Given the description of an element on the screen output the (x, y) to click on. 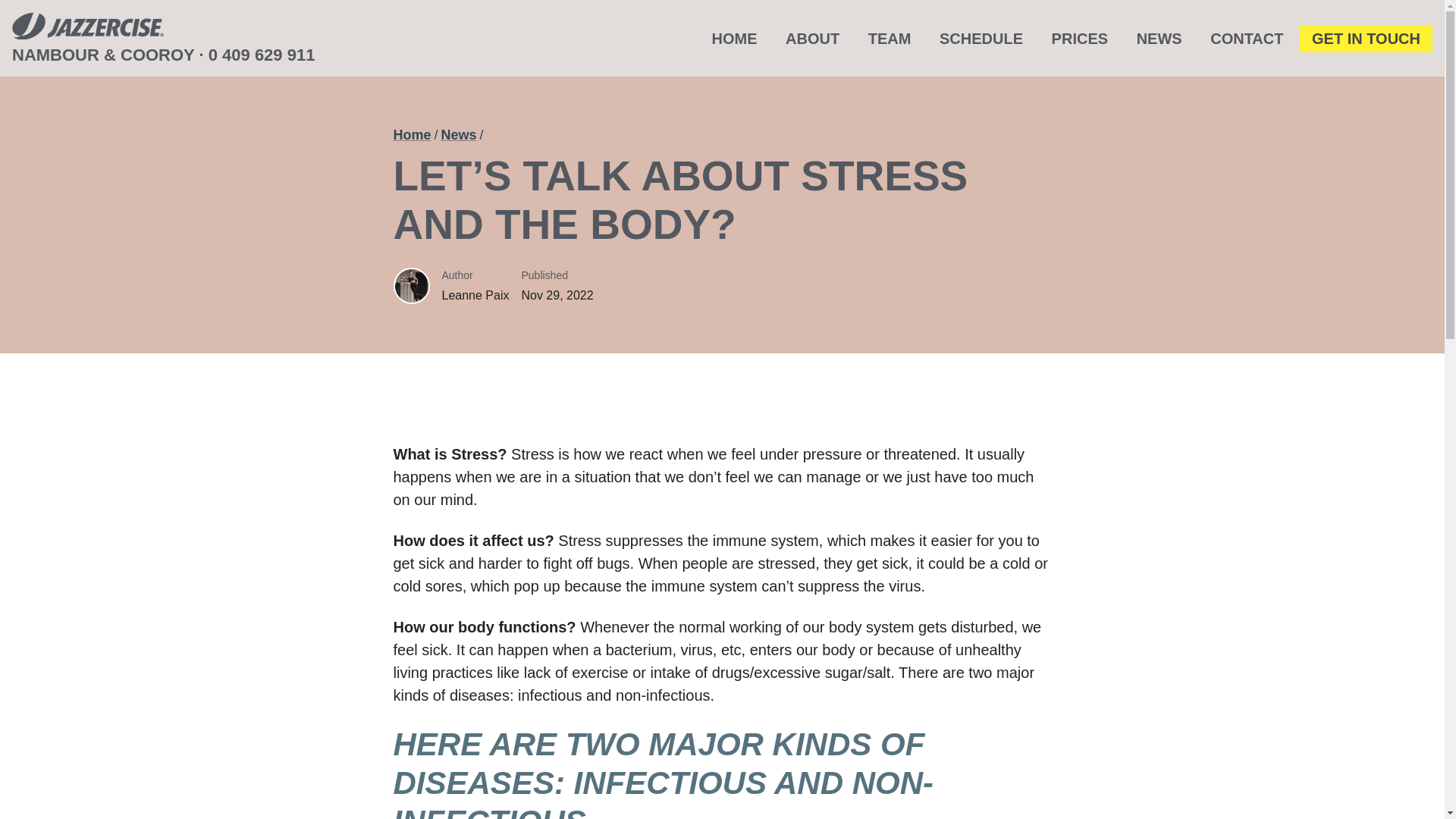
CONTACT (1246, 38)
ABOUT (812, 38)
Home (411, 135)
News (459, 135)
SCHEDULE (981, 38)
TEAM (889, 38)
PRICES (1079, 38)
NEWS (1158, 38)
GET IN TOUCH (1366, 38)
HOME (735, 38)
